Given the description of an element on the screen output the (x, y) to click on. 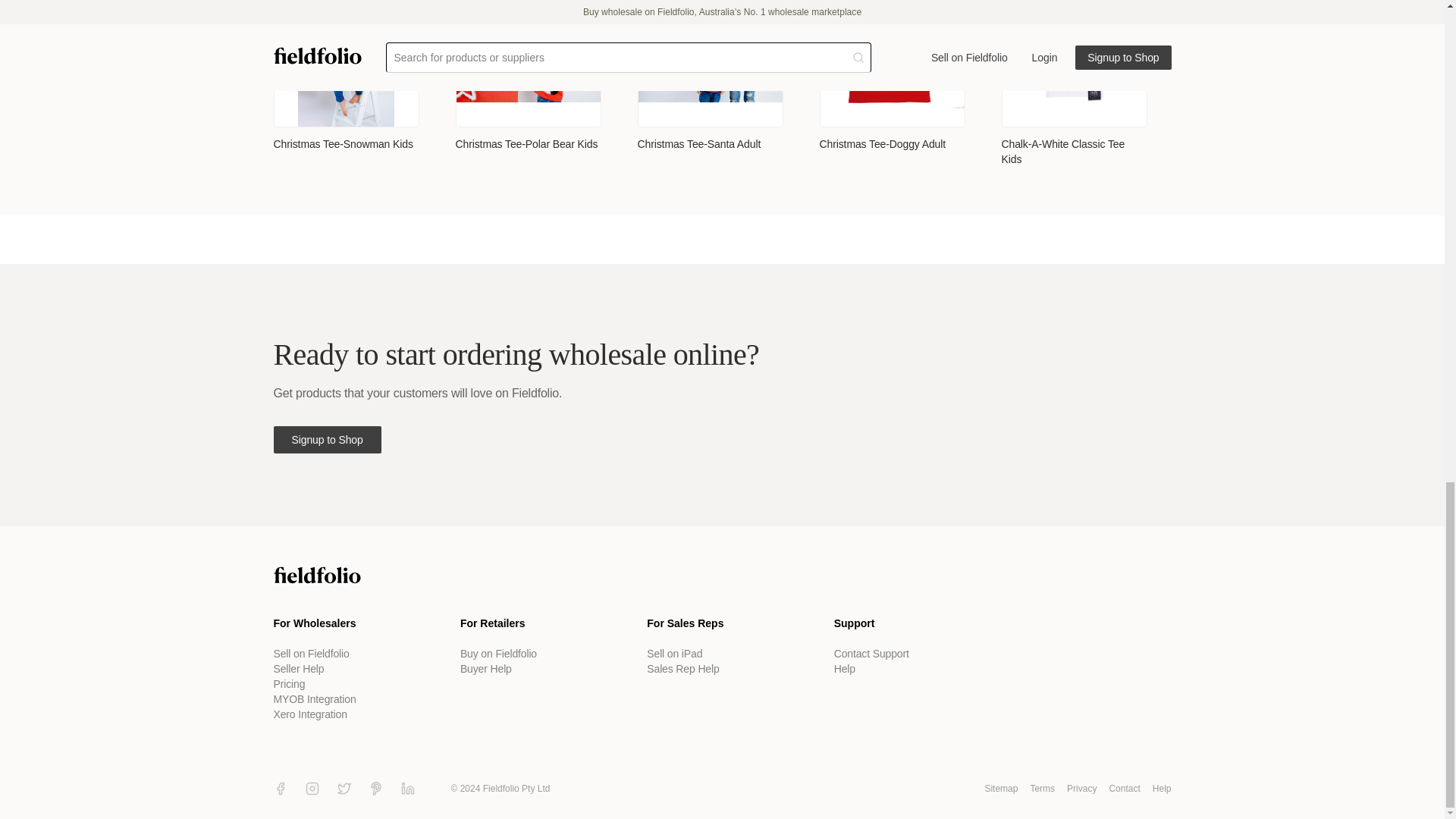
Signup to Shop (326, 439)
Christmas Tee-Santa Adult (698, 143)
Sales Rep Help (682, 668)
Buy on Fieldfolio (498, 653)
Christmas Tee-Snowman Kids (342, 143)
Christmas Tee-Polar Bear Kids (525, 143)
Buyer Help (486, 668)
Christmas Tee-Doggy Adult (881, 143)
MYOB Integration (314, 698)
Xero Integration (309, 714)
Sell on Fieldfolio (311, 653)
Sell on iPad (673, 653)
Pricing (288, 684)
Seller Help (298, 668)
Chalk-A-White Classic Tee Kids (1074, 151)
